Given the description of an element on the screen output the (x, y) to click on. 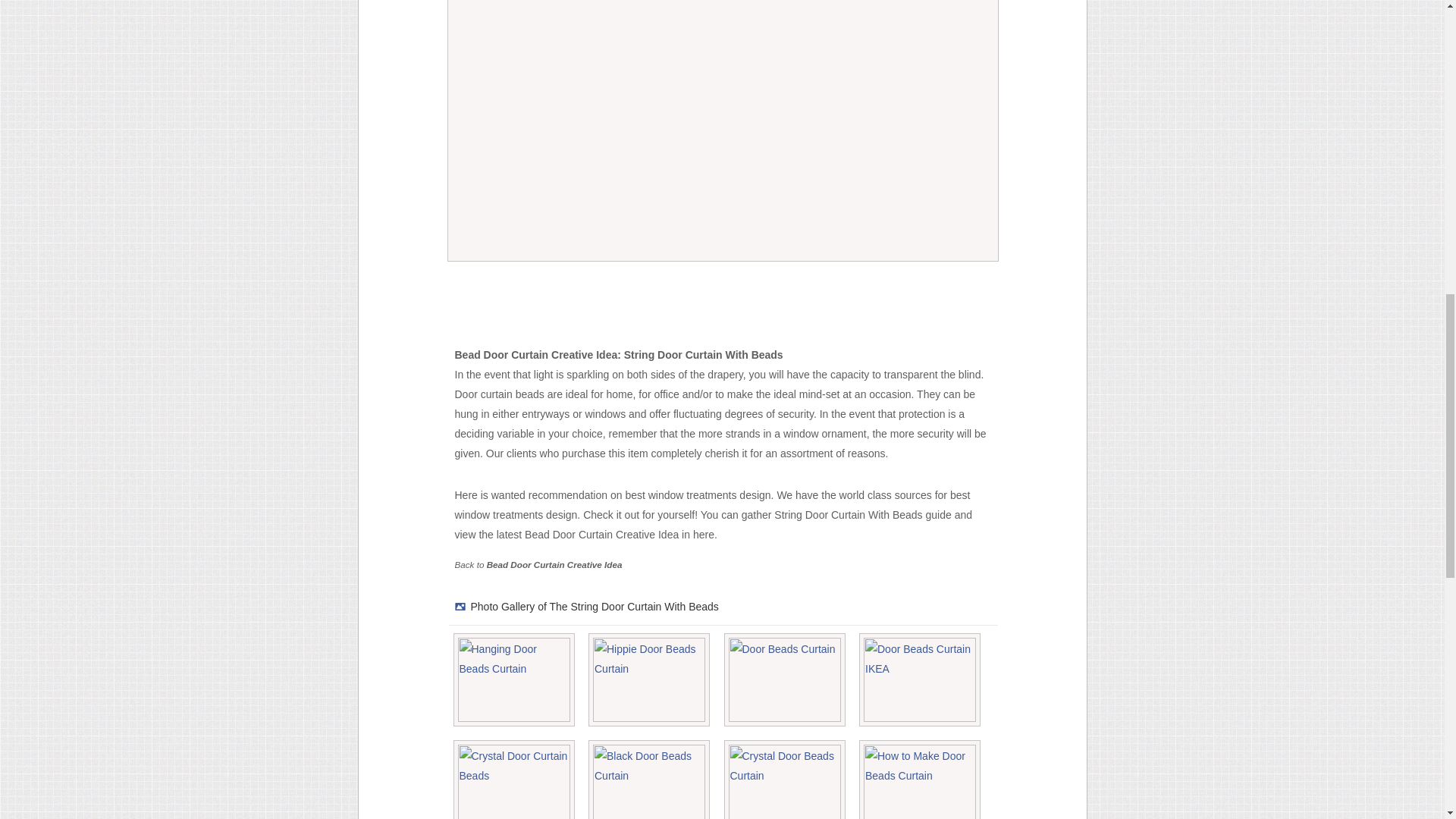
here (703, 534)
Bead Door Curtain Creative Idea (554, 564)
Return to Bead Door Curtain Creative Idea (554, 564)
